Given the description of an element on the screen output the (x, y) to click on. 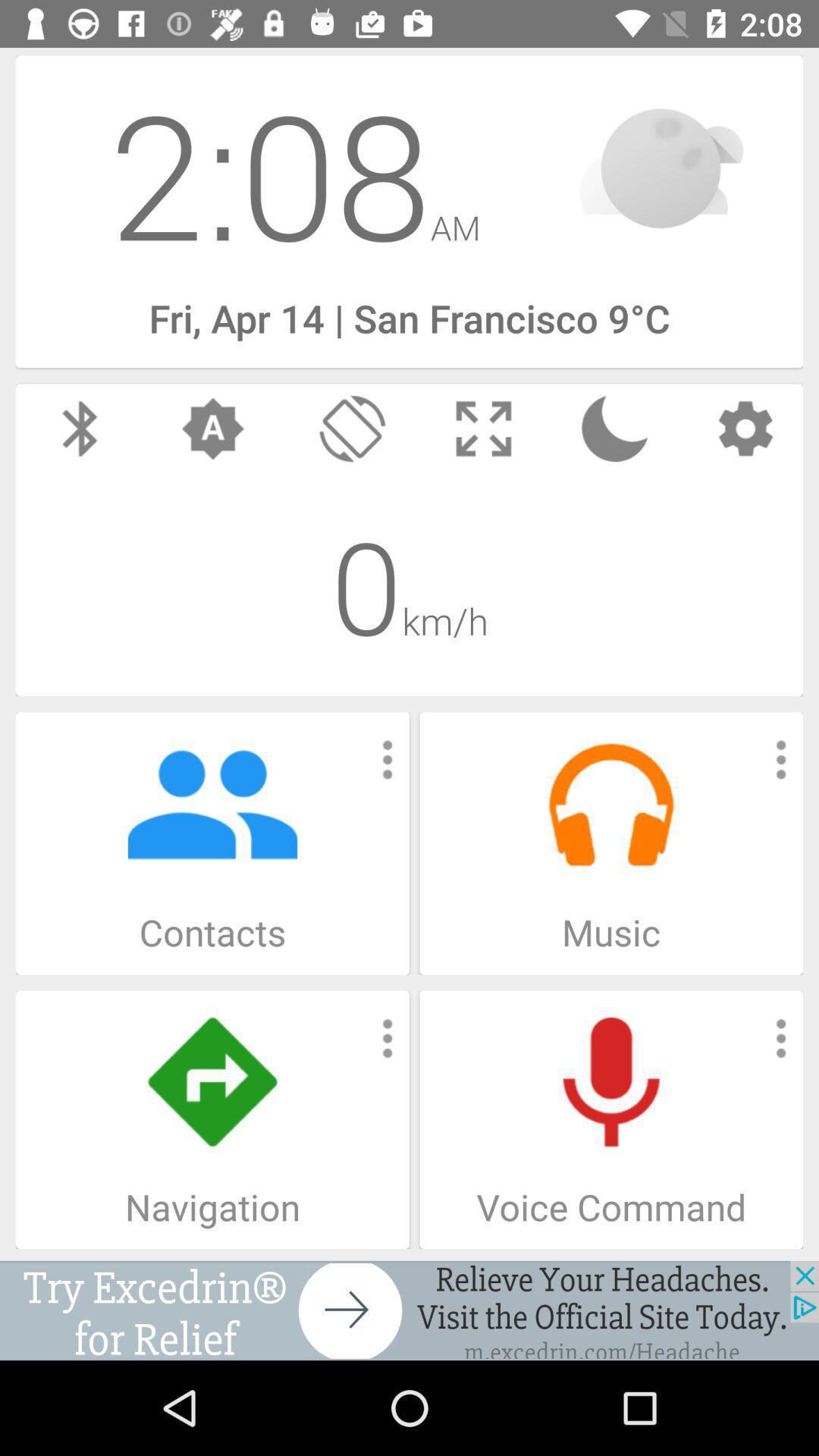
add icone (409, 1310)
